Given the description of an element on the screen output the (x, y) to click on. 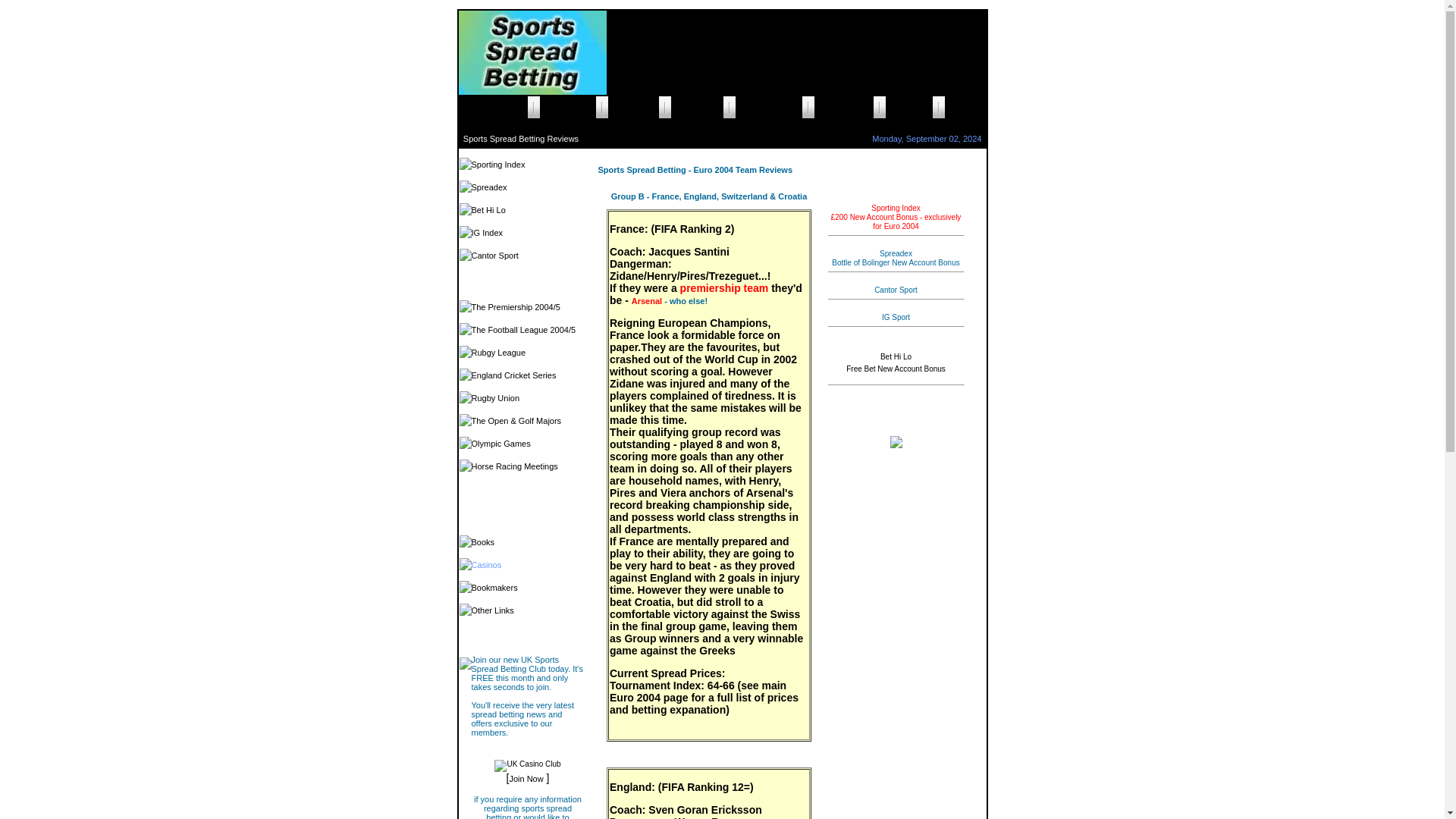
Rubgy League (498, 352)
IG Index (487, 232)
Spread Firms (567, 107)
In Running (908, 107)
Euro 2004 page (649, 697)
Betting Diary (696, 107)
Books (483, 542)
Home (965, 107)
Bet Hi Lo (488, 209)
Bookmakers (494, 587)
